Given the description of an element on the screen output the (x, y) to click on. 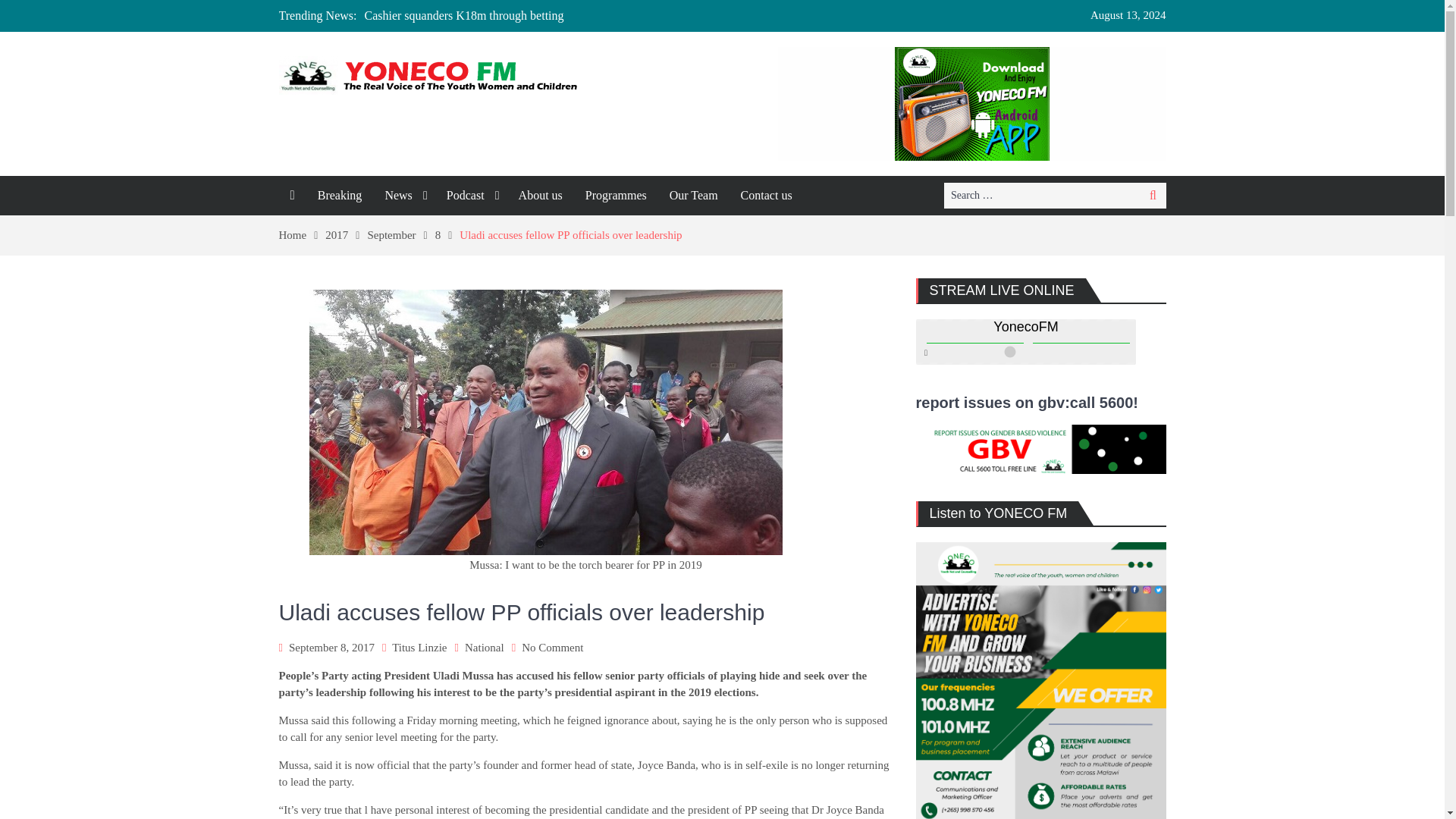
Titus Linzie (418, 647)
About us (539, 195)
September (399, 234)
National (483, 647)
8 (447, 234)
Search (1153, 195)
Contact us (766, 195)
report issues on gbv:call 5600! (1040, 469)
Breaking (339, 195)
